Given the description of an element on the screen output the (x, y) to click on. 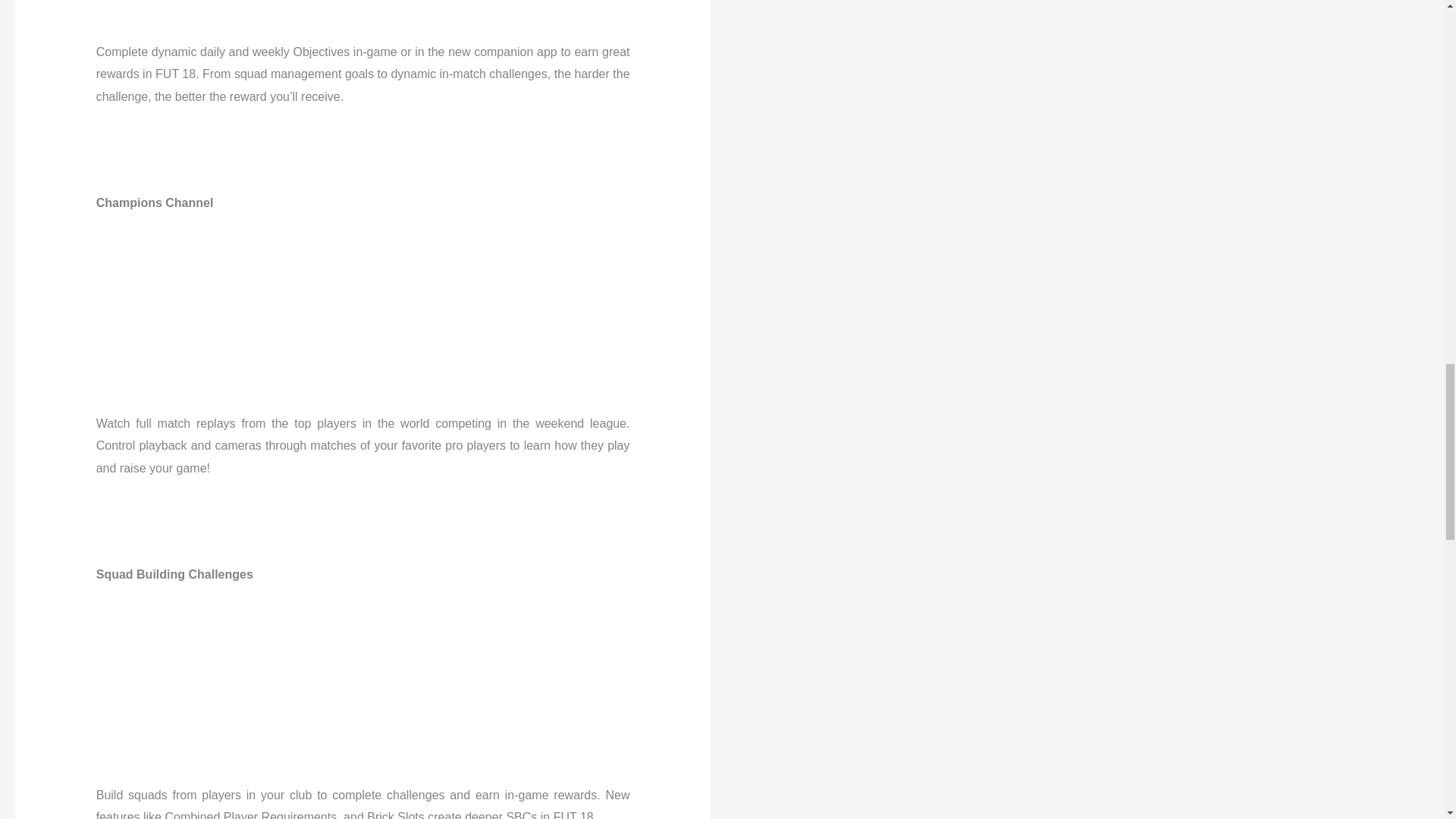
Meet the New FIFA 18 Ultimate Team Features (362, 662)
Meet the New FIFA 18 Ultimate Team Features (362, 291)
